Given the description of an element on the screen output the (x, y) to click on. 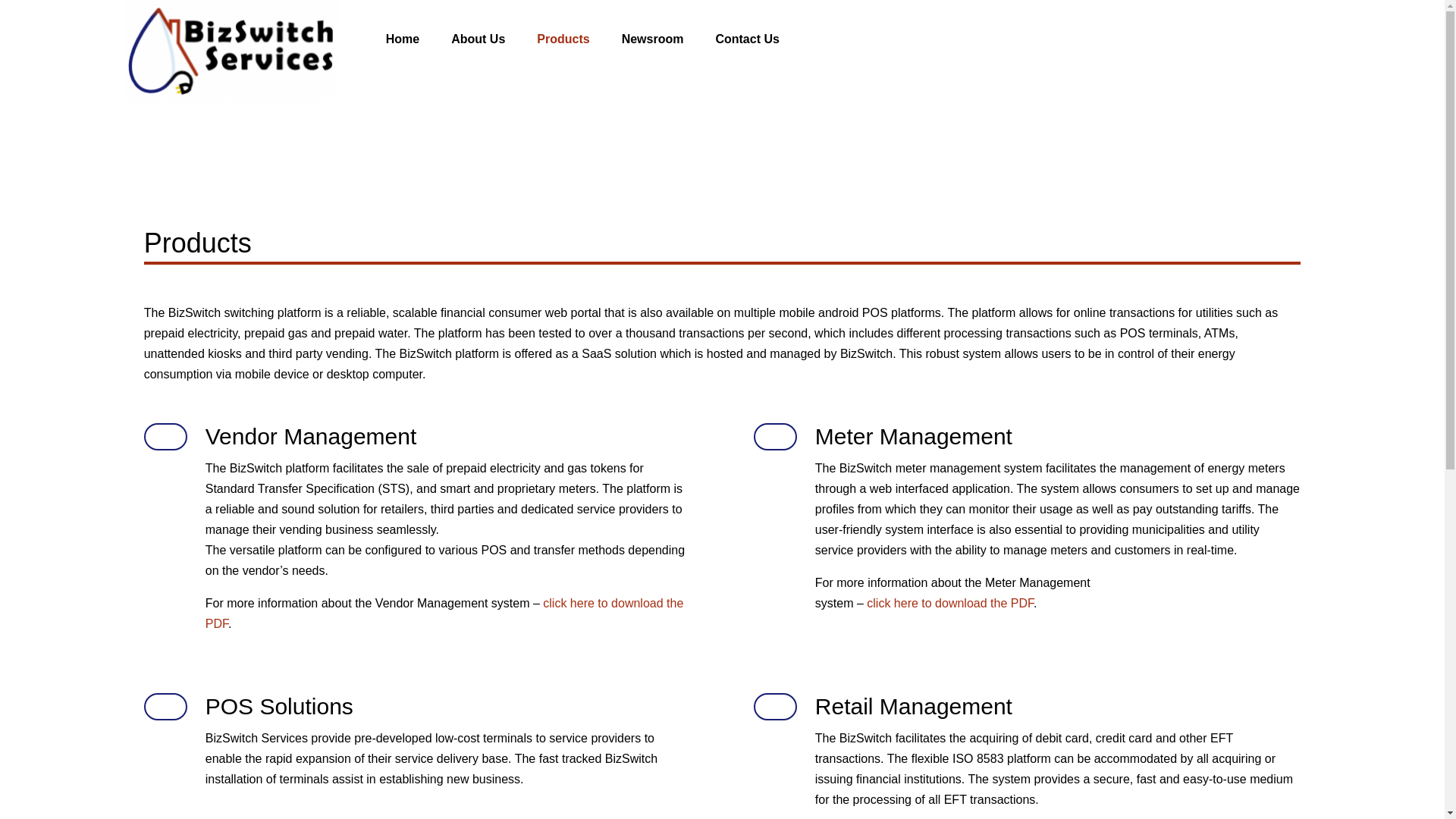
BizSwitch Services Ltd (231, 52)
click here to download the PDF (444, 613)
Products (579, 39)
Newsroom (668, 39)
About Us (494, 39)
click here to download the PDF (949, 603)
Home (418, 39)
Contact Us (762, 39)
